Given the description of an element on the screen output the (x, y) to click on. 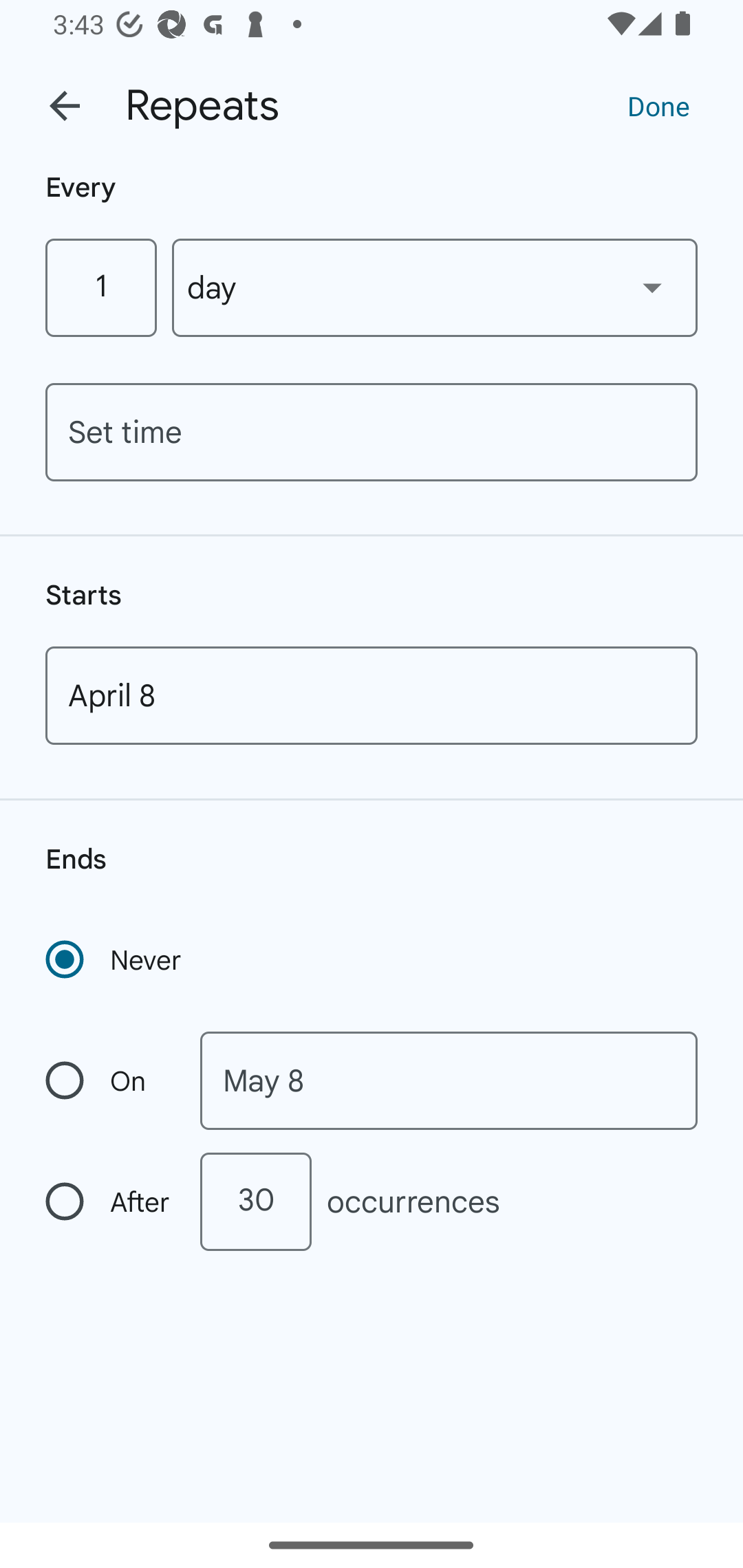
Back (64, 105)
Done (658, 105)
1 (100, 287)
day (434, 287)
Show dropdown menu (652, 286)
Set time (371, 431)
April 8 (371, 695)
Never Recurrence never ends (115, 959)
May 8 (448, 1080)
On Recurrence ends on a specific date (109, 1080)
30 (255, 1201)
